Given the description of an element on the screen output the (x, y) to click on. 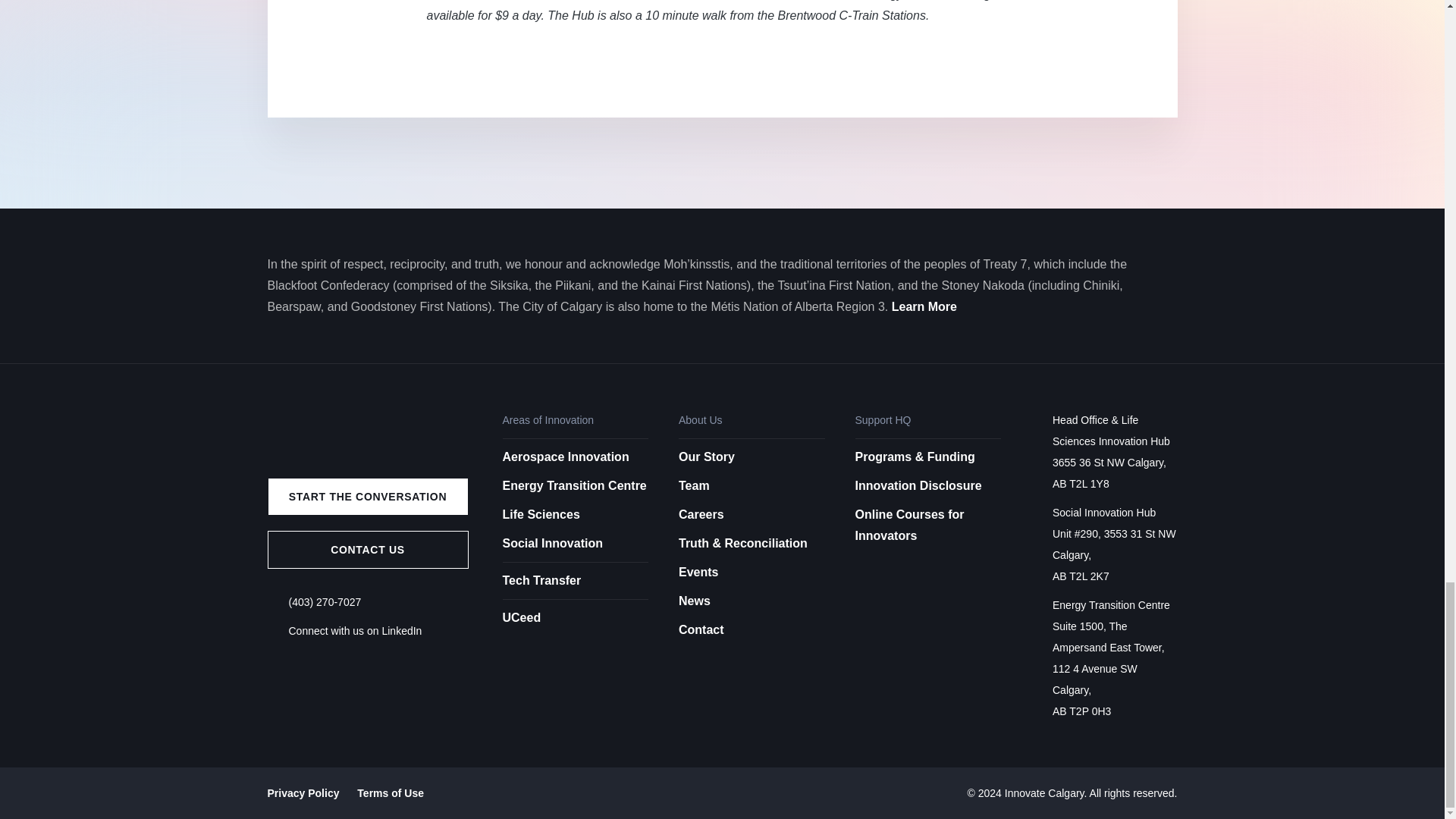
START THE CONVERSATION (366, 496)
Tech Transfer (574, 576)
Learn More (923, 306)
UCeed (574, 613)
Energy Transition Centre (574, 485)
Connect with us on LinkedIn (355, 630)
CONTACT US (366, 549)
Social Innovation (552, 543)
Our Story (706, 456)
Life Sciences (540, 513)
